Given the description of an element on the screen output the (x, y) to click on. 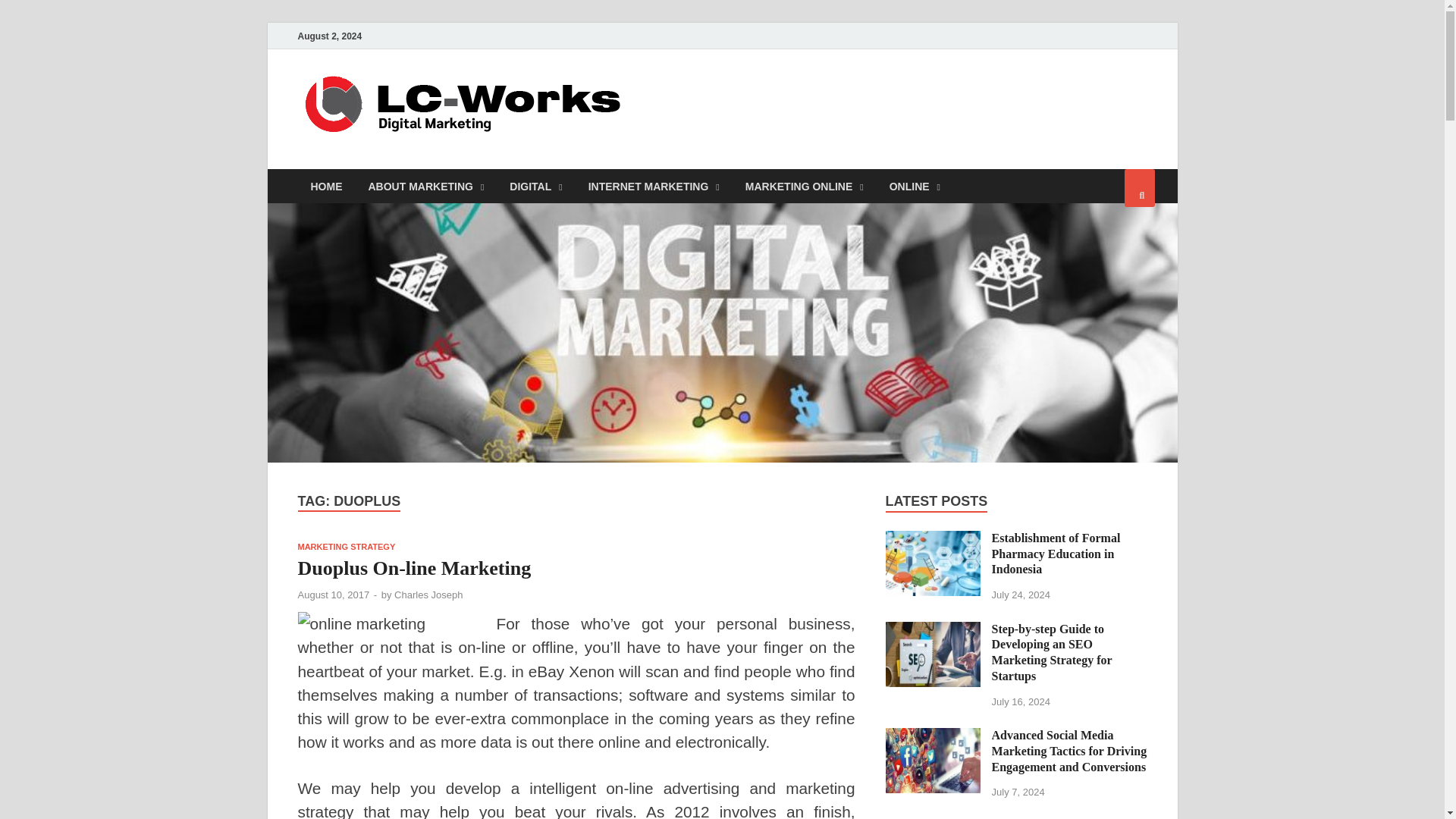
Duoplus On-line Marketing (414, 568)
Establishment of Formal Pharmacy Education in Indonesia (932, 539)
Charles Joseph (428, 594)
ABOUT MARKETING (425, 185)
August 10, 2017 (333, 594)
MARKETING STRATEGY (345, 546)
leathercustomwork.com (796, 100)
DIGITAL (535, 185)
MARKETING ONLINE (804, 185)
